Given the description of an element on the screen output the (x, y) to click on. 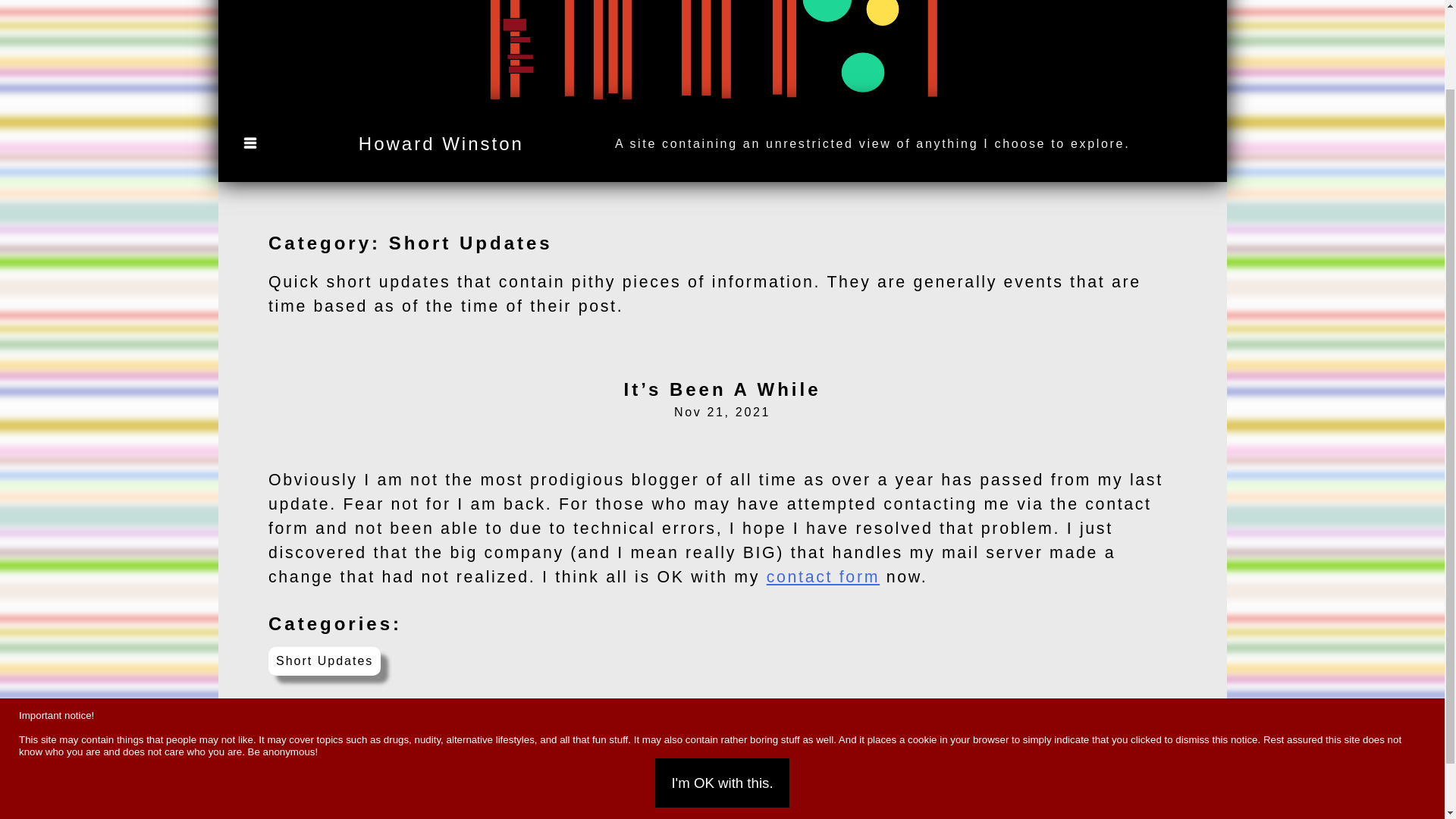
Howard Winston (441, 143)
Short Updates (323, 661)
I'm OK with this. (722, 687)
contact form (823, 577)
